Given the description of an element on the screen output the (x, y) to click on. 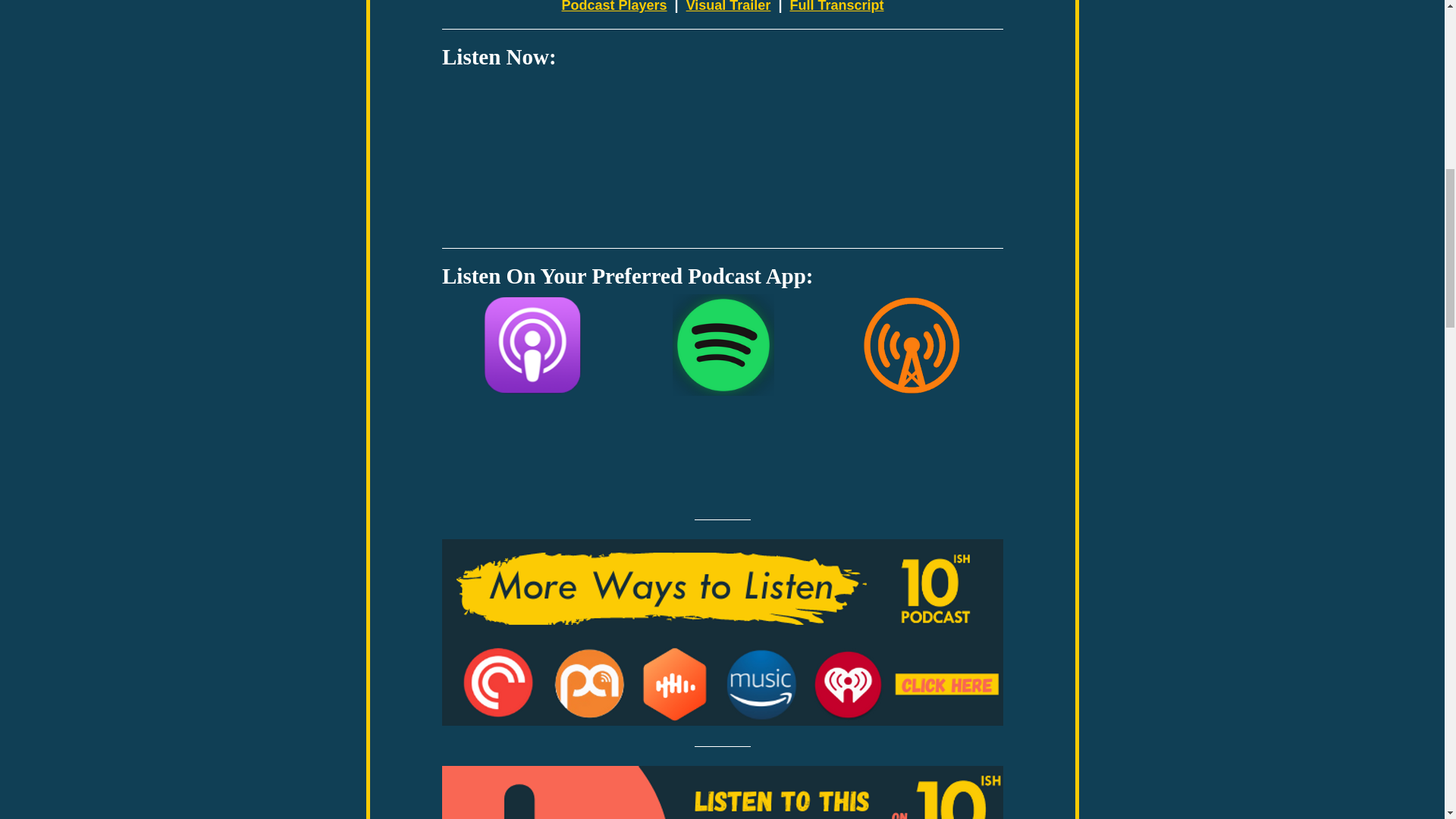
Visual Trailer (727, 6)
Full Transcript (836, 6)
Podcast Players (613, 6)
